Given the description of an element on the screen output the (x, y) to click on. 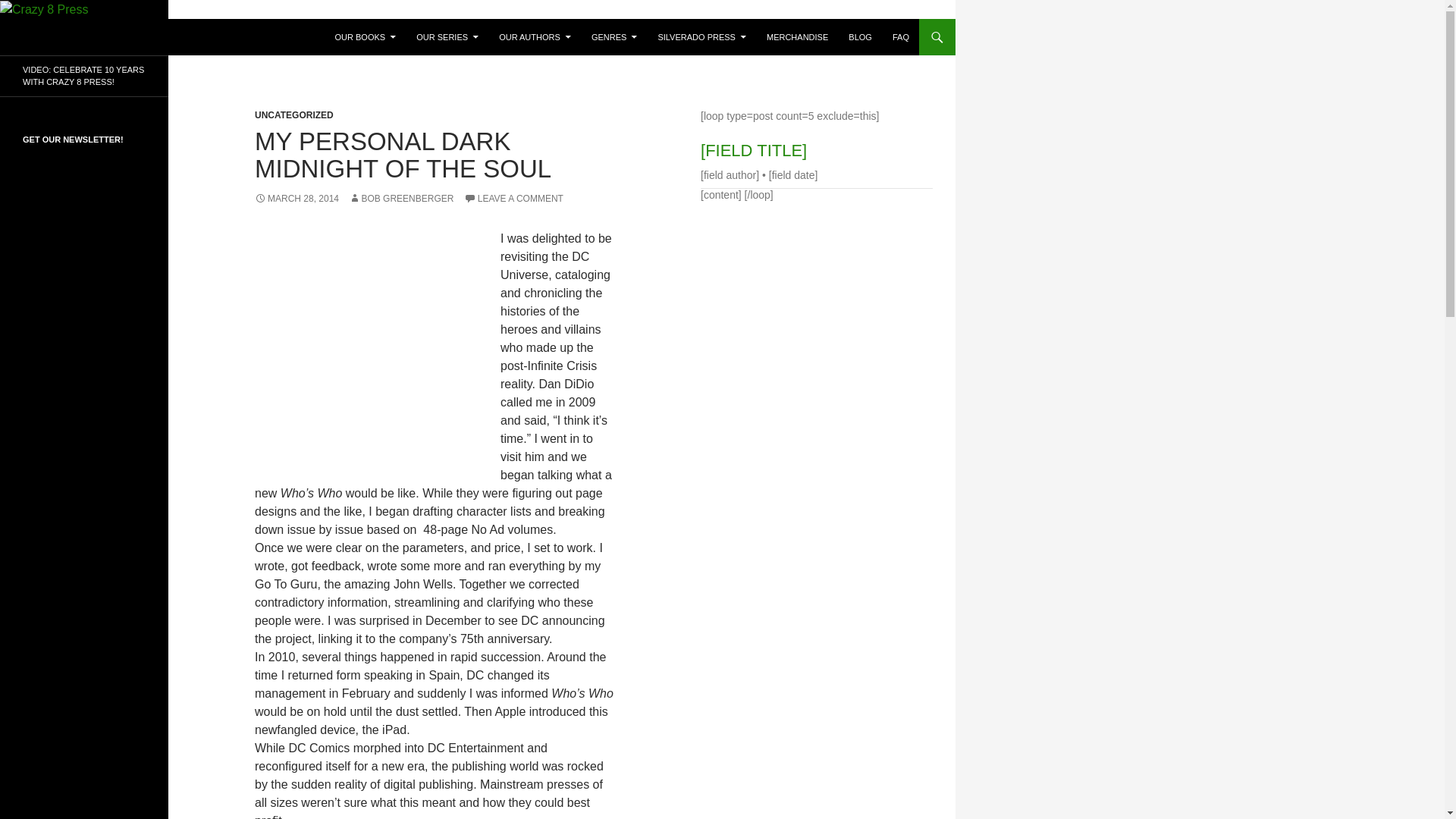
Crazy 8 Press (67, 36)
OUR BOOKS (366, 36)
OUR SERIES (447, 36)
